Given the description of an element on the screen output the (x, y) to click on. 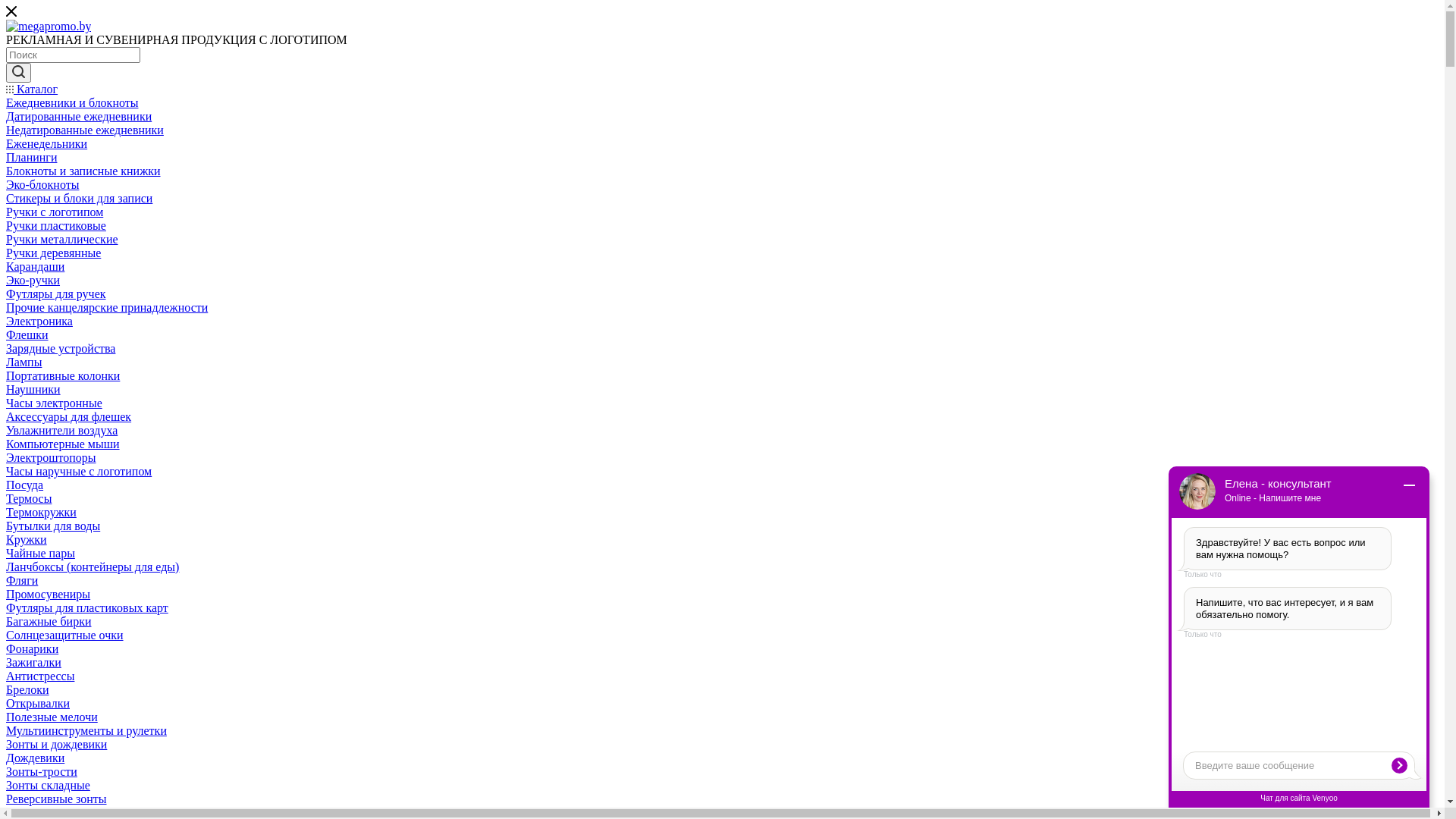
megapromo.by Element type: hover (48, 26)
